Given the description of an element on the screen output the (x, y) to click on. 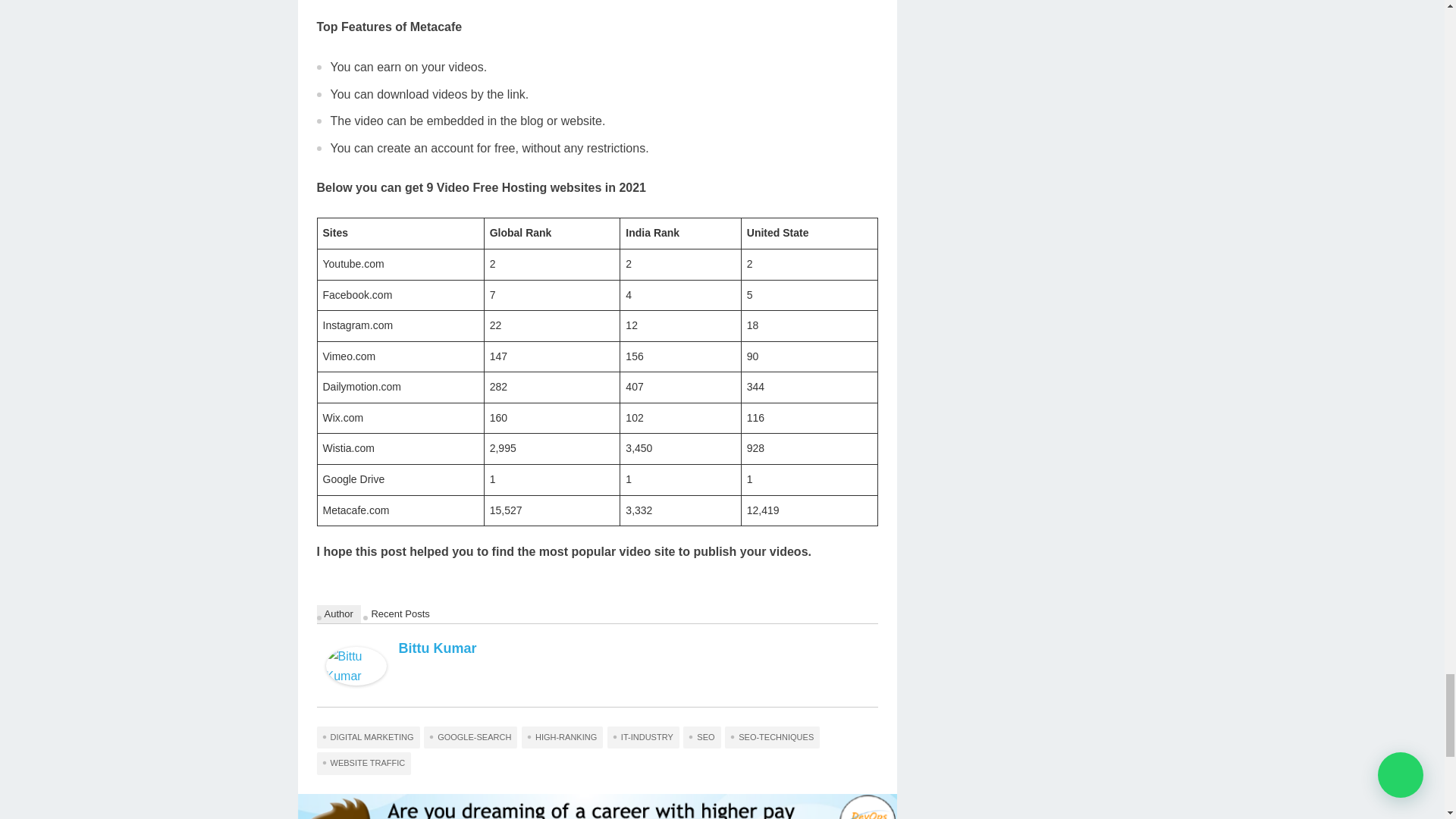
Author (339, 614)
SEO-TECHNIQUES (772, 737)
DIGITAL MARKETING (368, 737)
SEO (701, 737)
Recent Posts (399, 614)
GOOGLE-SEARCH (469, 737)
IT-INDUSTRY (643, 737)
Bittu Kumar (356, 680)
HIGH-RANKING (561, 737)
Bittu Kumar (437, 648)
WEBSITE TRAFFIC (364, 763)
